Given the description of an element on the screen output the (x, y) to click on. 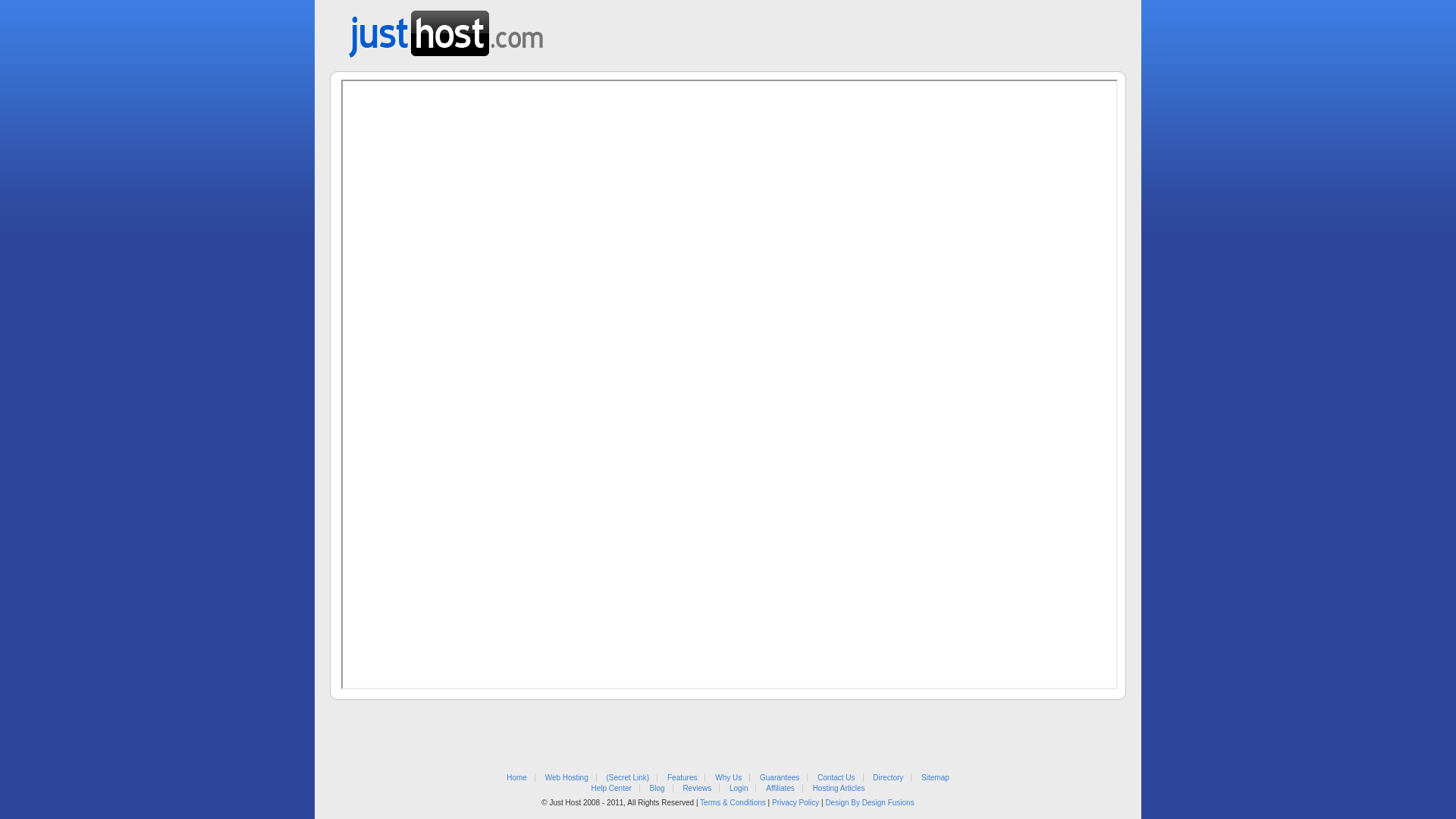
Why Us Element type: text (728, 777)
Web Hosting from Just Host Element type: text (445, 28)
Guarantees Element type: text (779, 777)
Affiliates Element type: text (779, 788)
Directory Element type: text (887, 777)
Web Hosting Element type: text (566, 777)
Hosting Articles Element type: text (838, 788)
Reviews Element type: text (696, 788)
Blog Element type: text (657, 788)
Home Element type: text (516, 777)
Help Center Element type: text (610, 788)
Terms & Conditions Element type: text (732, 802)
Design By Design Fusions Element type: text (869, 802)
Login Element type: text (738, 788)
Privacy Policy Element type: text (795, 802)
Contact Us Element type: text (835, 777)
Sitemap Element type: text (935, 777)
(Secret Link) Element type: text (627, 777)
Features Element type: text (681, 777)
